Given the description of an element on the screen output the (x, y) to click on. 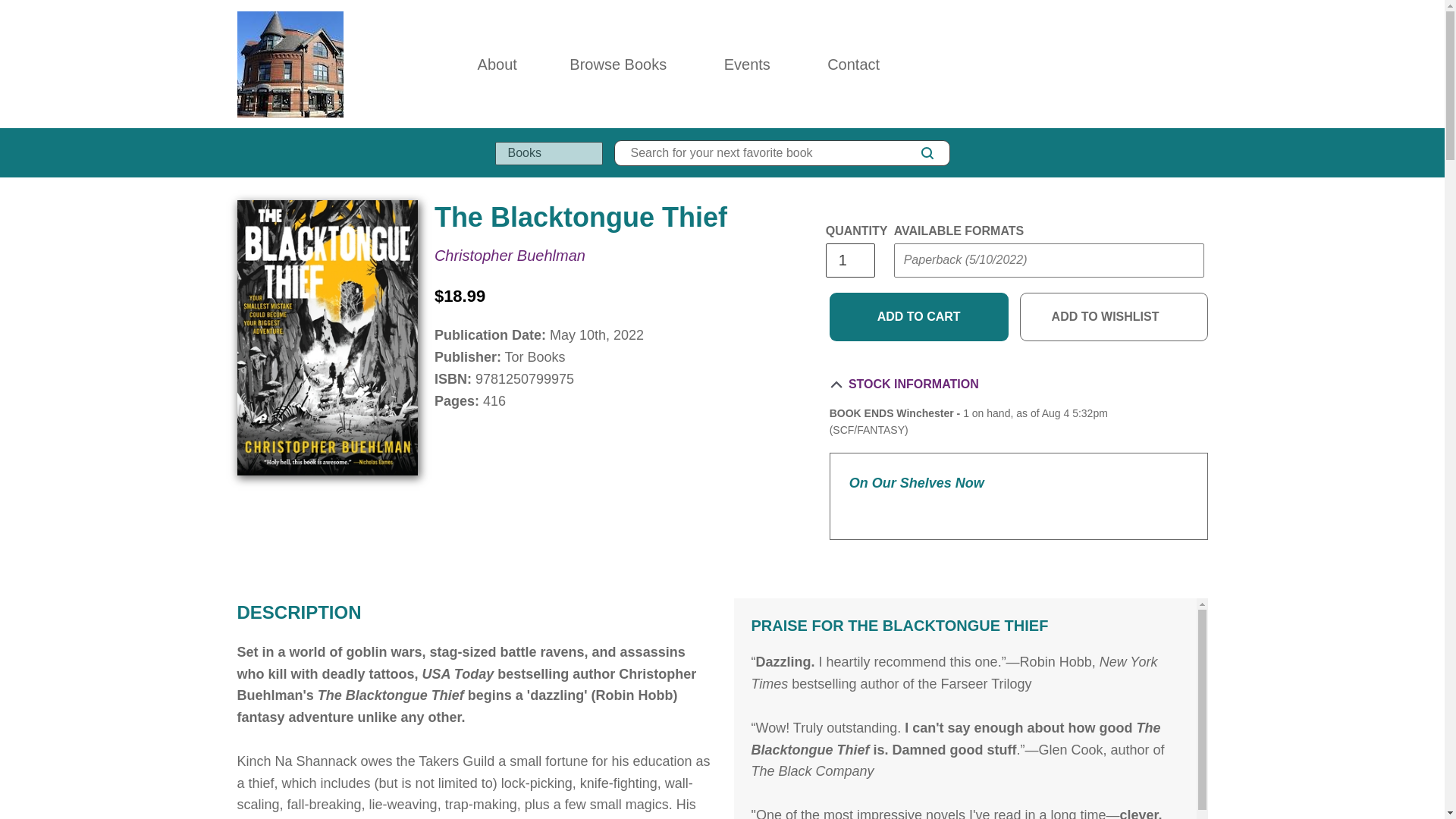
Events (747, 64)
Cart (1200, 64)
SEARCH (926, 152)
Add to cart (919, 316)
1 (850, 260)
Wishlists (1168, 64)
Submit (922, 290)
Cart (1200, 64)
ADD TO WISHLIST (1114, 316)
